Given the description of an element on the screen output the (x, y) to click on. 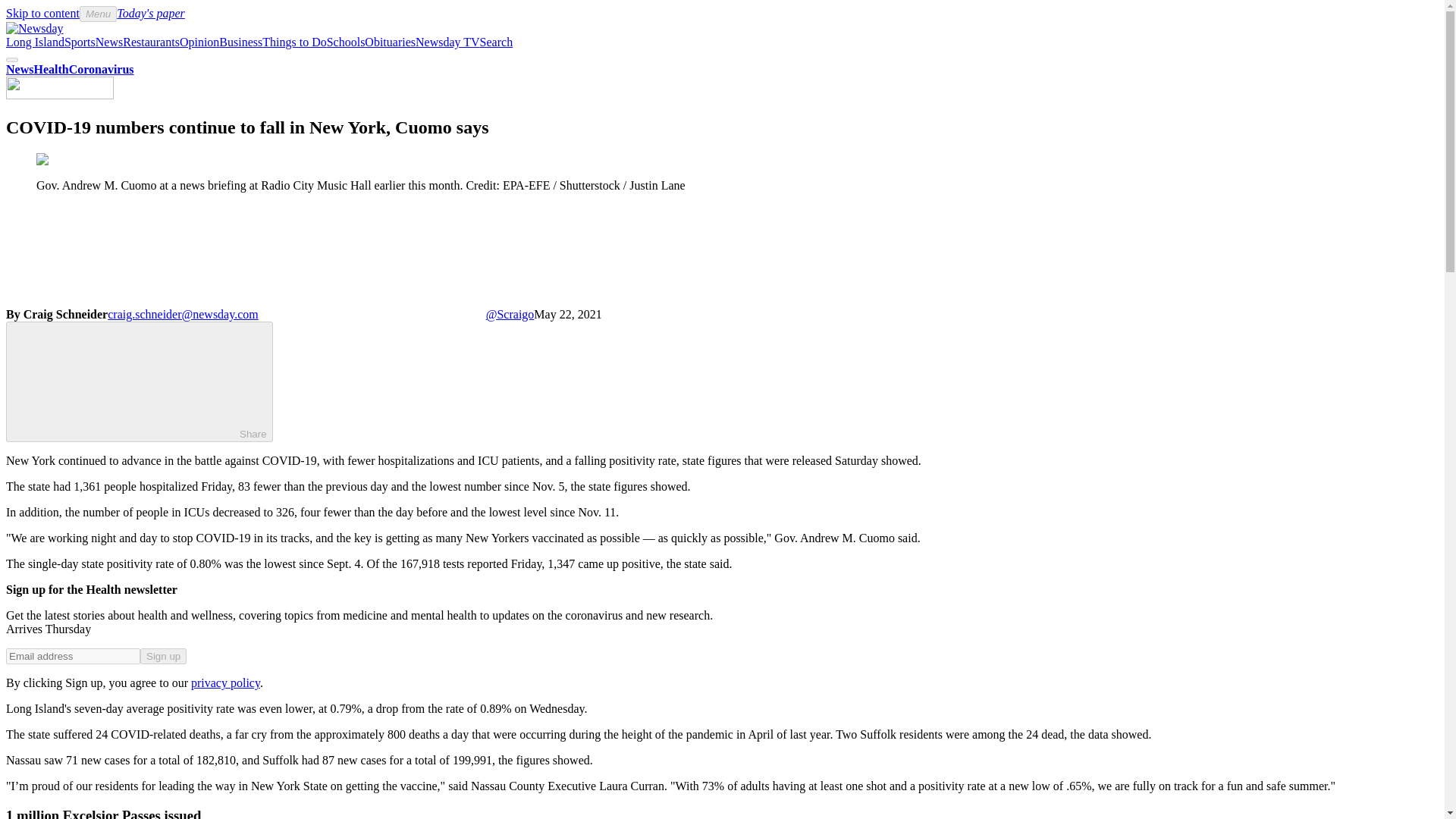
Health (50, 69)
Skip to content (42, 12)
Share (139, 381)
Business (240, 42)
Today's paper (150, 12)
Newsday TV (447, 42)
Coronavirus (100, 69)
Search (496, 42)
News (19, 69)
Sports (80, 42)
News (109, 42)
Long Island (34, 42)
privacy policy (225, 682)
Sign up (162, 656)
Restaurants (150, 42)
